Given the description of an element on the screen output the (x, y) to click on. 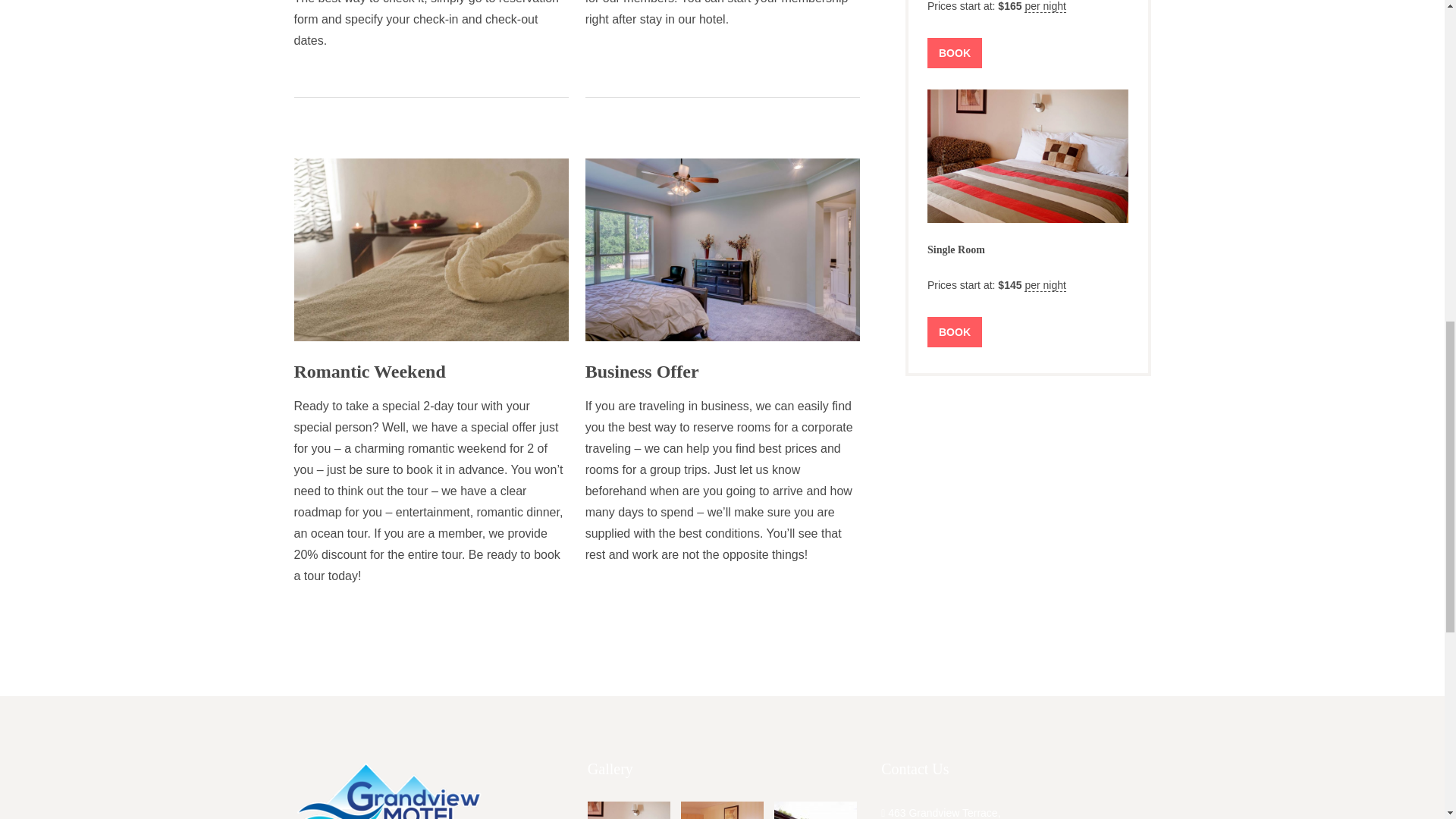
Romantic Weekend (369, 371)
Choose dates to see relevant prices (1045, 285)
Choose dates to see relevant prices (1045, 6)
